Given the description of an element on the screen output the (x, y) to click on. 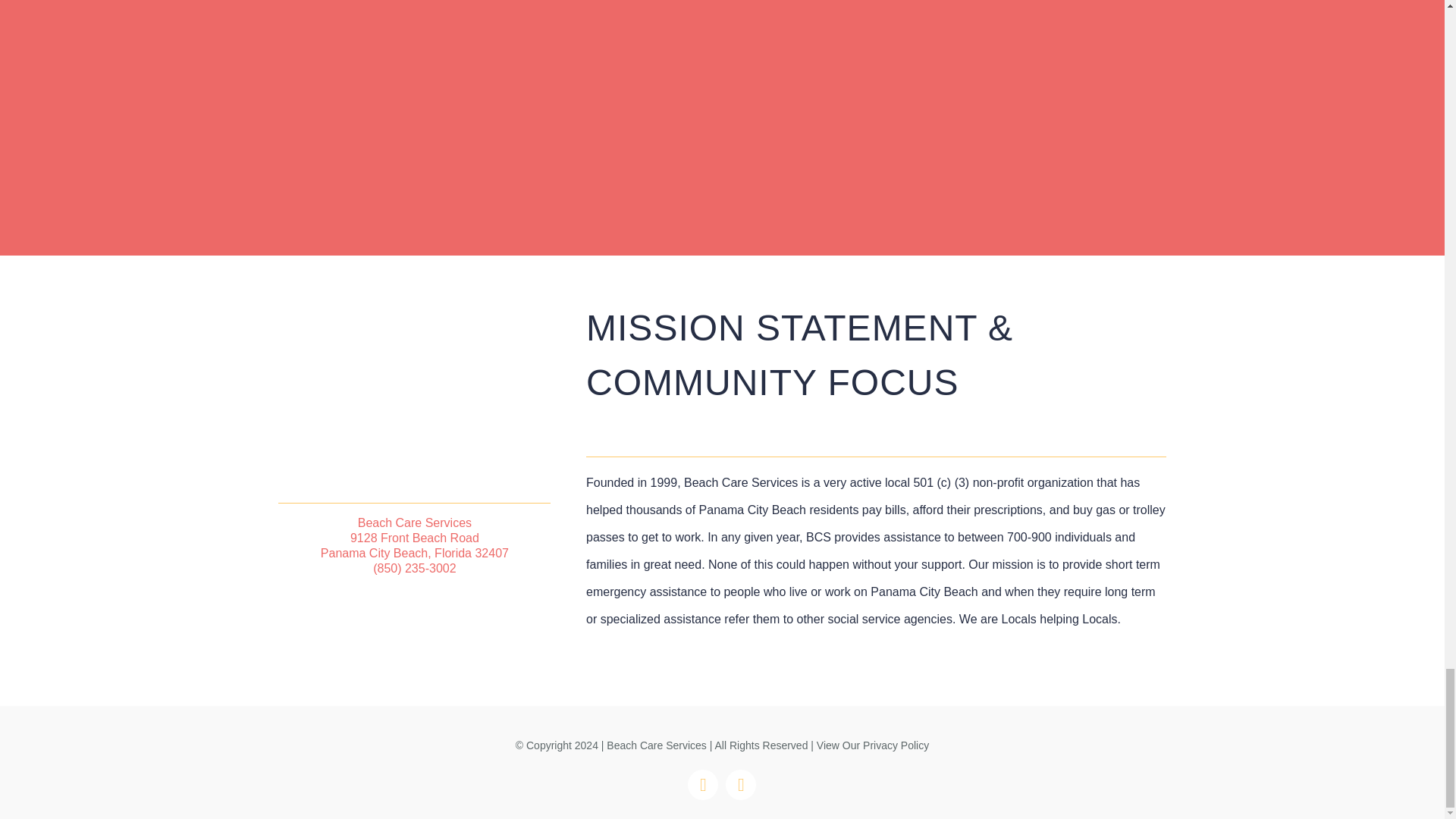
Facebook (702, 784)
Instagram (740, 784)
BCS-LOGO (414, 430)
